Given the description of an element on the screen output the (x, y) to click on. 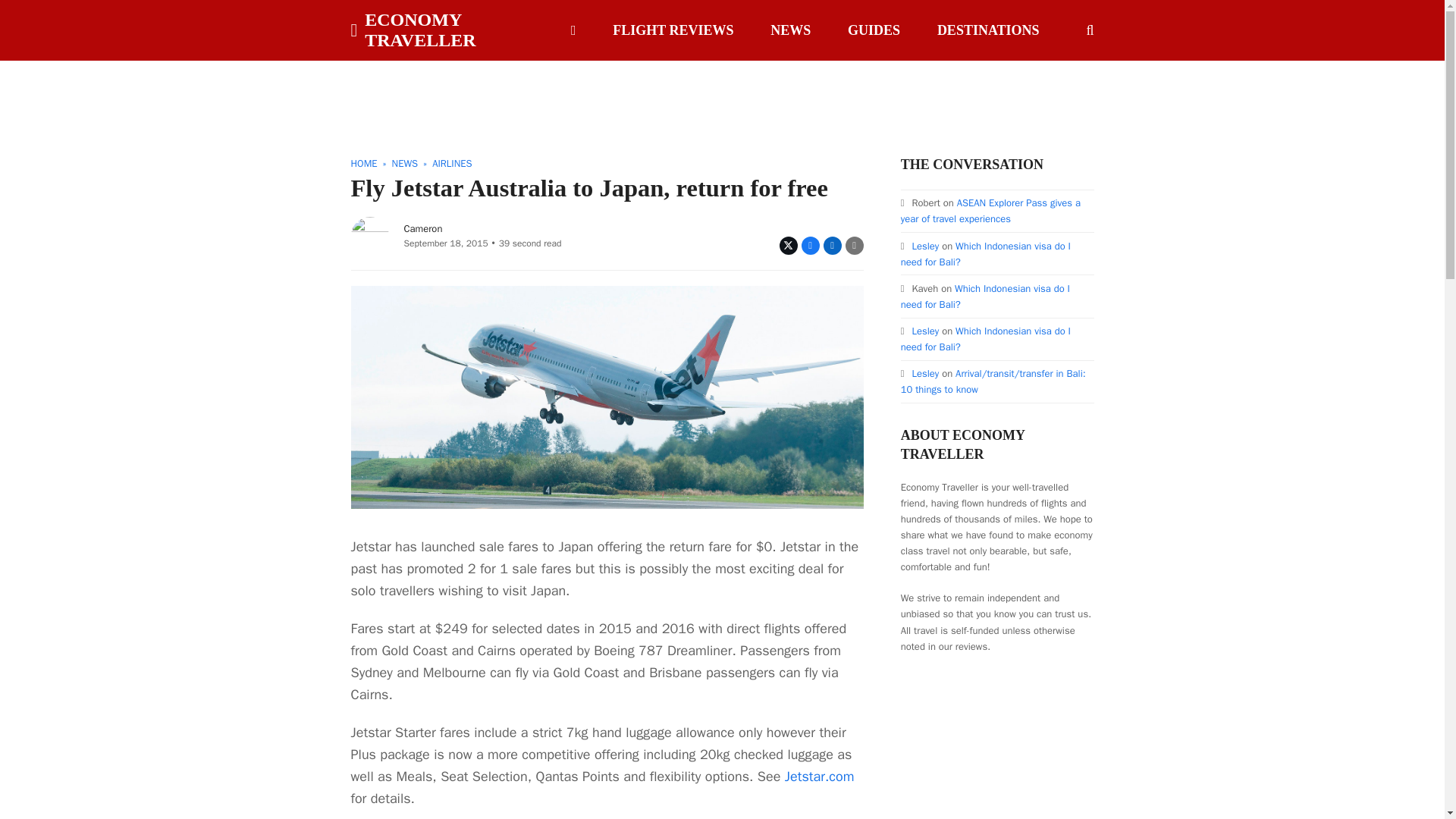
DESTINATIONS (988, 29)
Advertisement (721, 94)
ECONOMY TRAVELLER (444, 29)
Advertisement (1014, 748)
Post on X (787, 245)
Jetstar.com (819, 776)
Go to Author Page (369, 234)
Share via Email (854, 245)
NEWS (790, 29)
GUIDES (873, 29)
FLIGHT REVIEWS (672, 29)
Cameron (422, 227)
HOME (363, 163)
AIRLINES (451, 163)
Share on Facebook (810, 245)
